Given the description of an element on the screen output the (x, y) to click on. 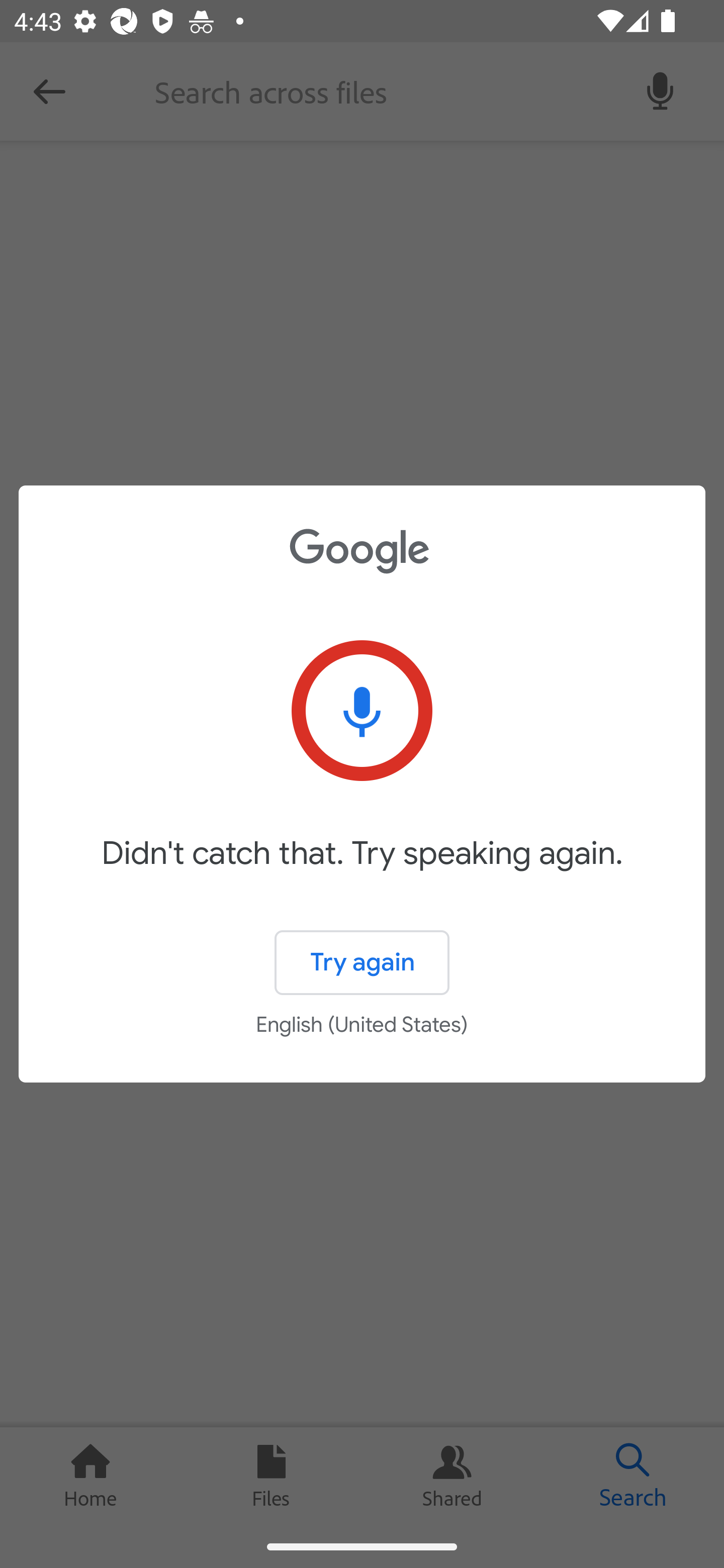
Tap to try again (361, 710)
Try again (361, 962)
